Given the description of an element on the screen output the (x, y) to click on. 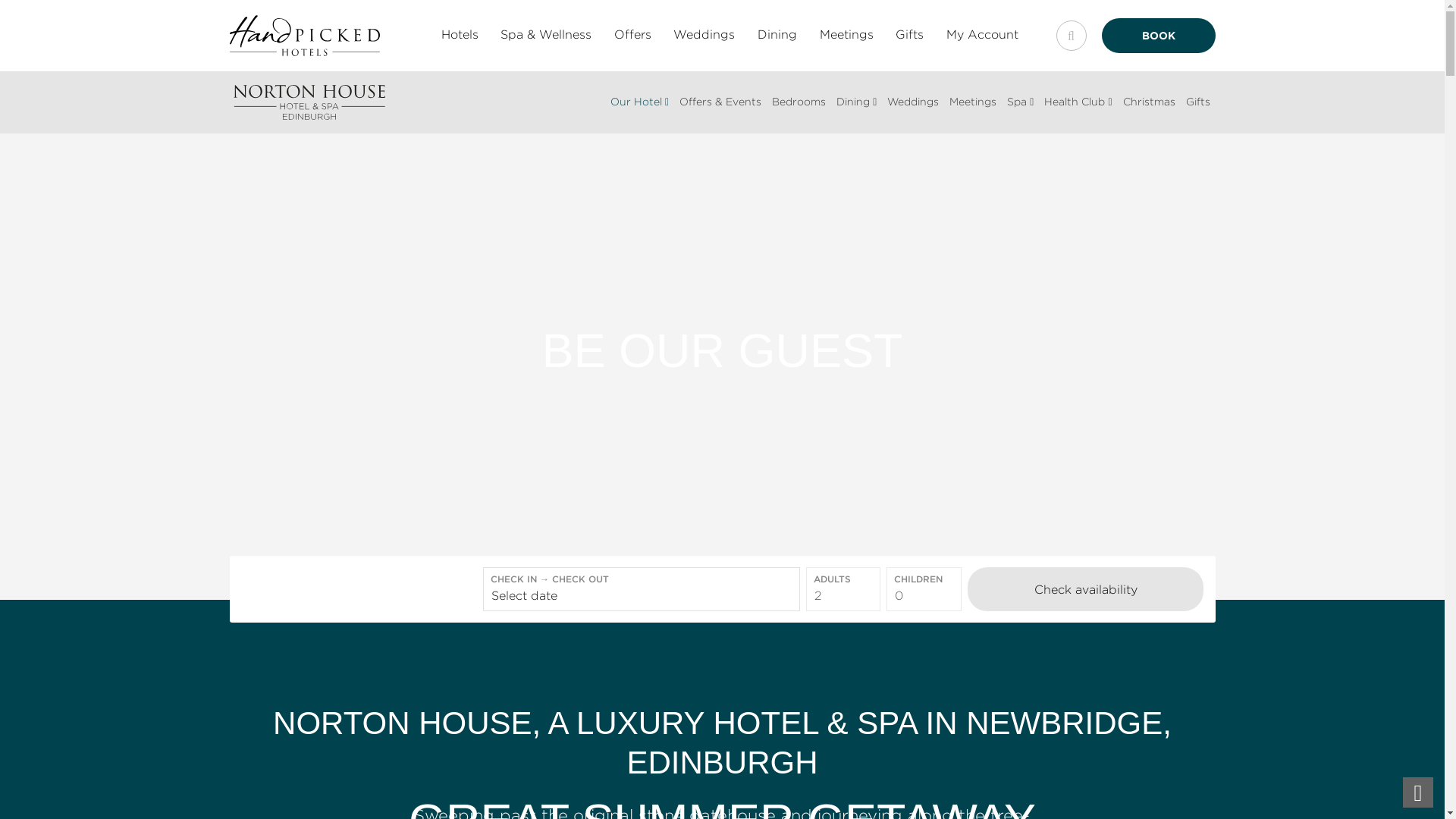
Check availability (1086, 588)
Back to top (1417, 792)
